Given the description of an element on the screen output the (x, y) to click on. 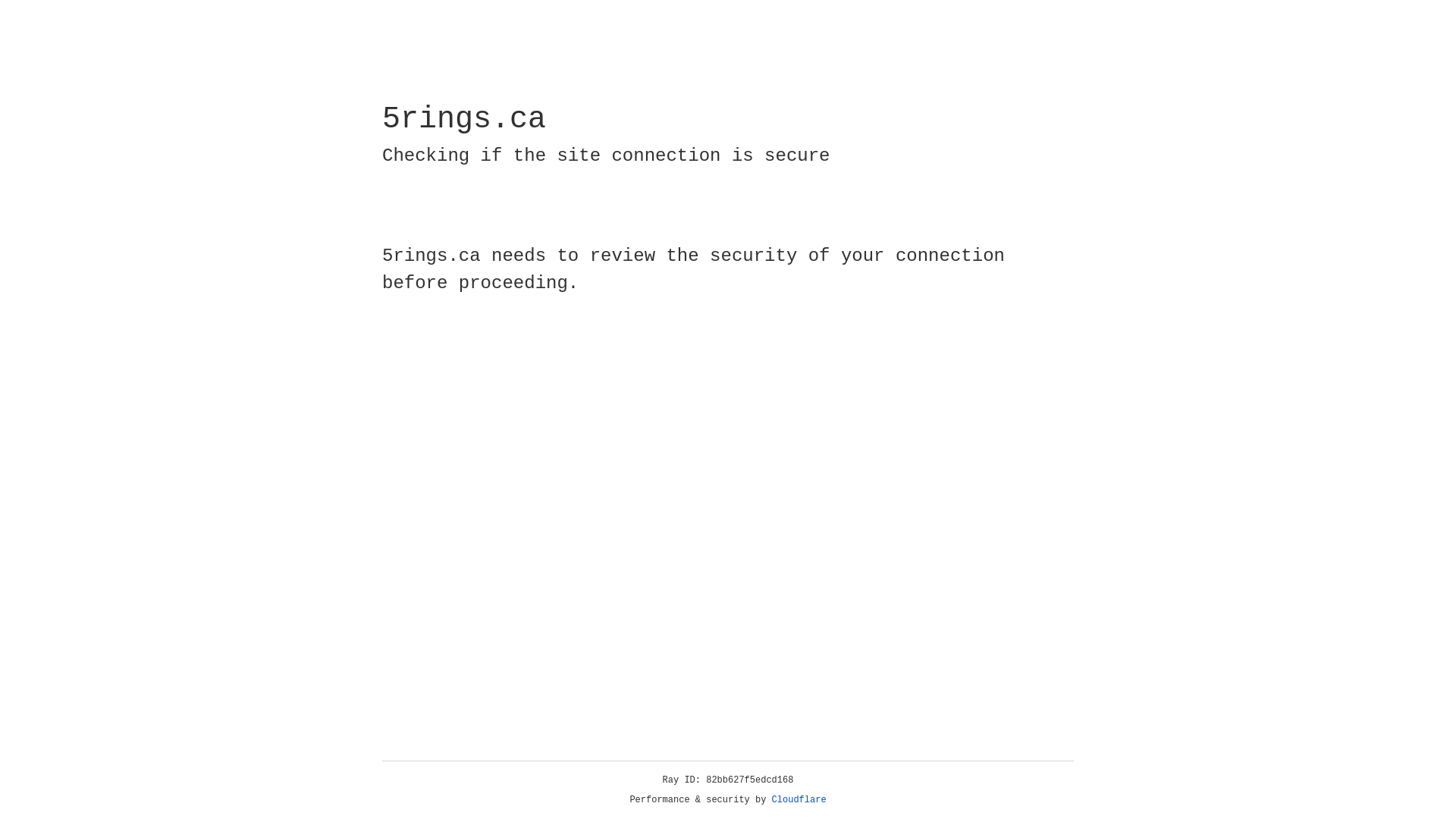
Cloudflare Element type: text (798, 799)
